Given the description of an element on the screen output the (x, y) to click on. 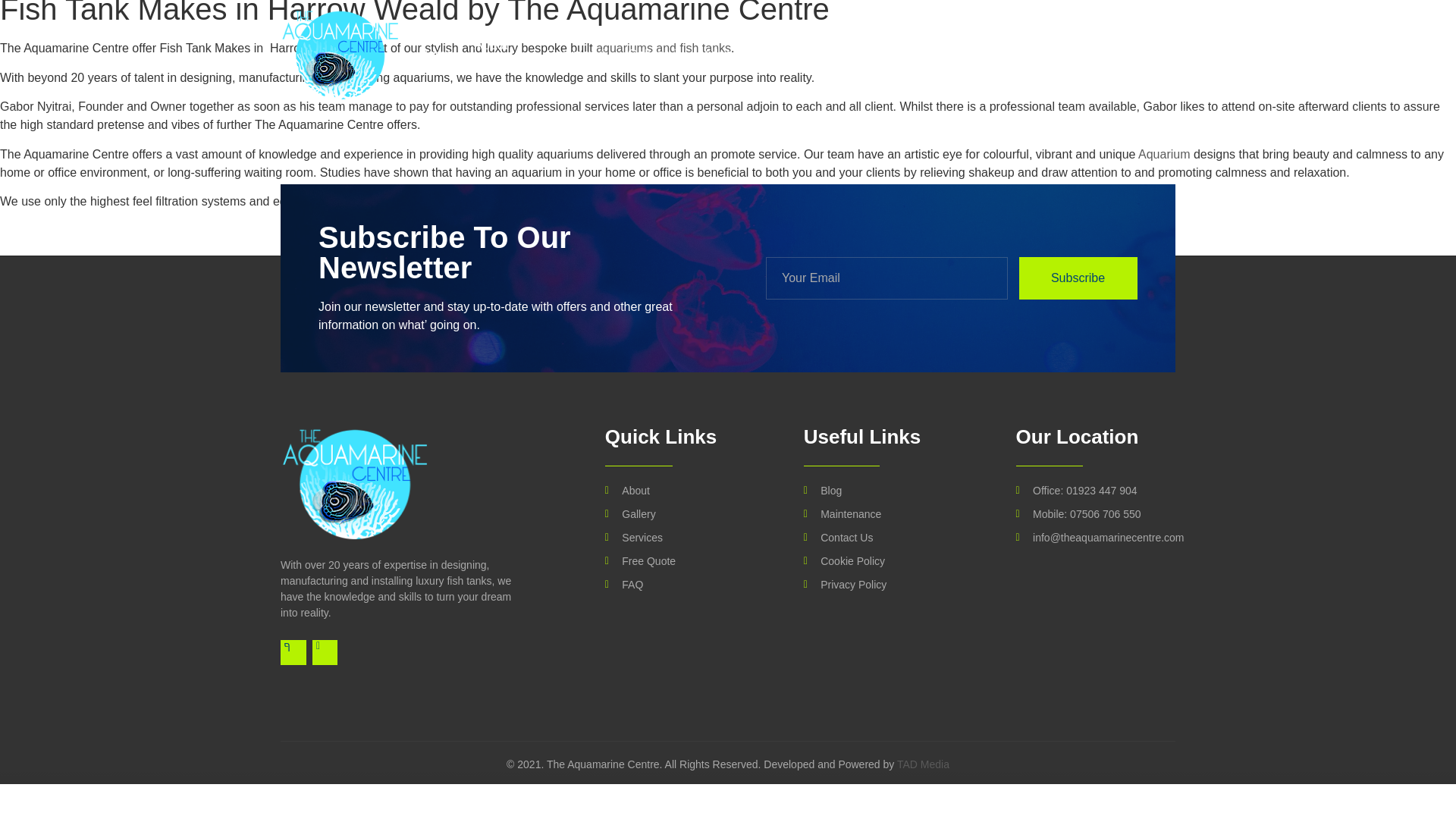
About (689, 490)
About Us (499, 54)
Subscribe (1078, 278)
Gallery (652, 54)
FAQ (975, 54)
Free Quote (791, 54)
Videos (718, 54)
Meet The Team (893, 54)
Aquarium (1163, 154)
Home (435, 54)
Contact Us (1039, 54)
Services (575, 54)
Gallery (689, 514)
aquariums and fish tanks (662, 47)
Services (689, 537)
